Given the description of an element on the screen output the (x, y) to click on. 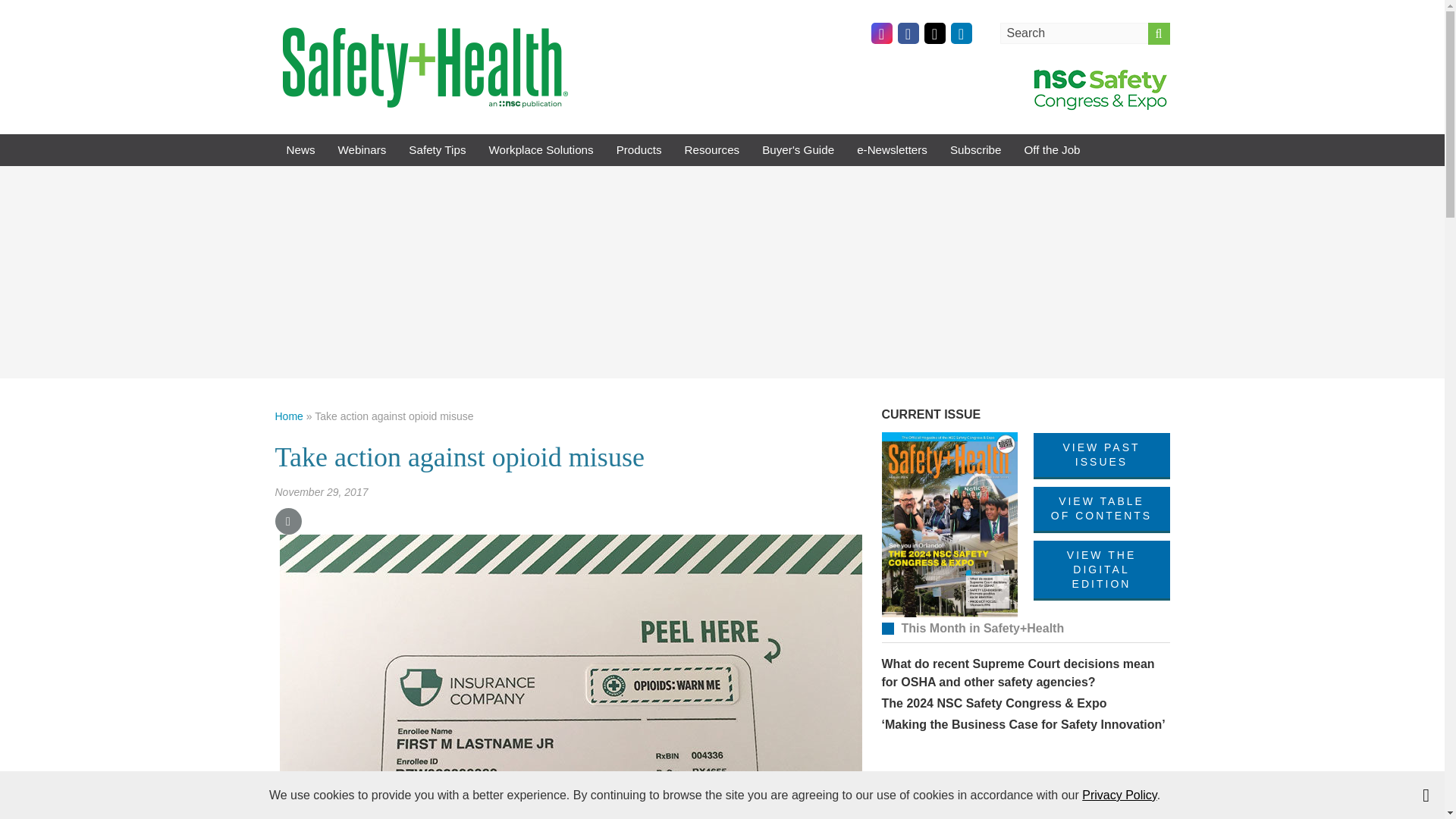
Safety Tips (437, 150)
News (300, 150)
Webinars (361, 150)
Privacy Policy (1118, 794)
